Given the description of an element on the screen output the (x, y) to click on. 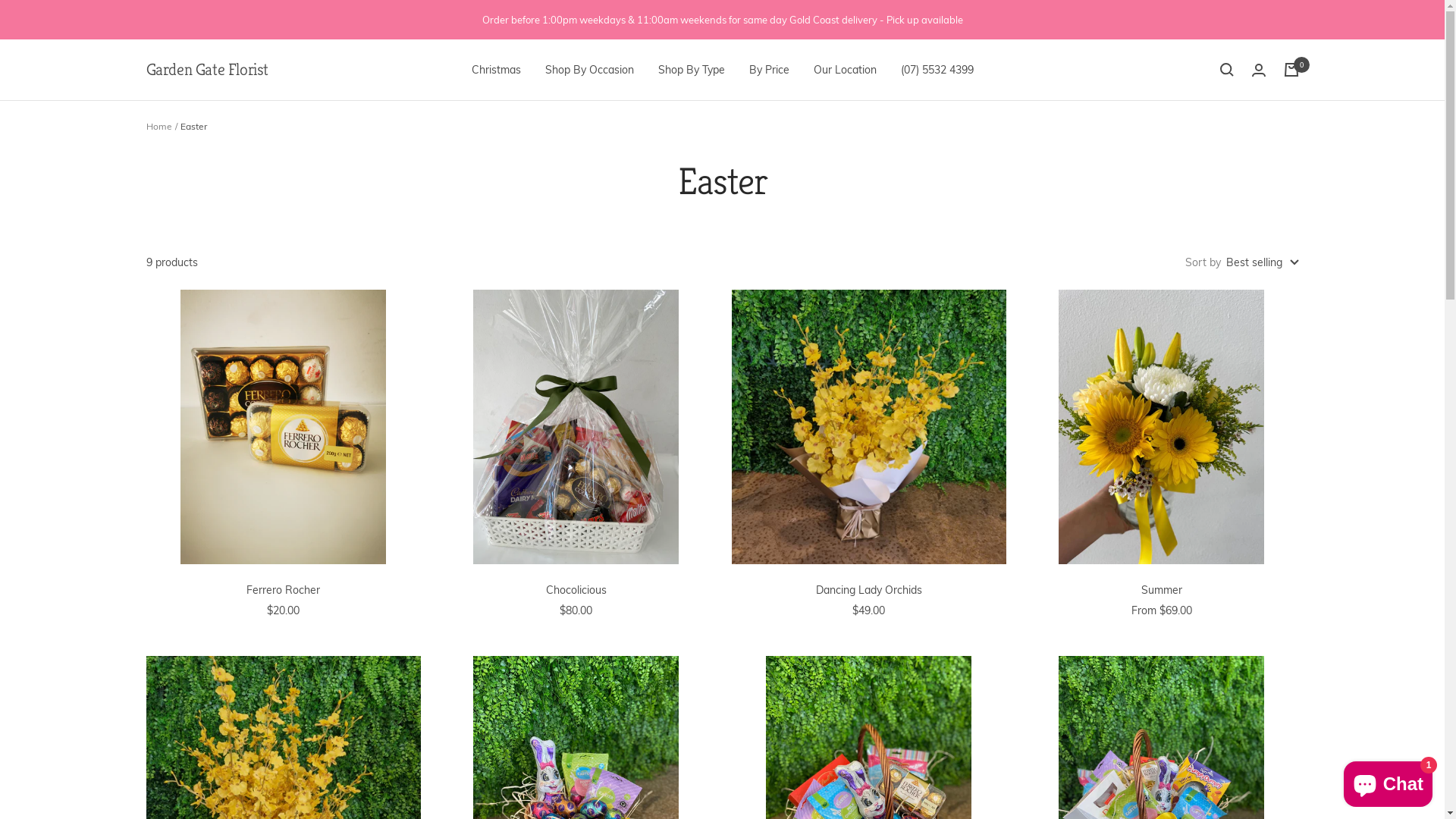
(07) 5532 4399 Element type: text (936, 69)
Chocolicious Element type: text (575, 590)
Shop By Occasion Element type: text (588, 69)
Our Location Element type: text (843, 69)
Dancing Lady Orchids Element type: text (868, 590)
Home Element type: text (158, 125)
Best selling Element type: text (1261, 262)
0 Element type: text (1290, 69)
By Price Element type: text (769, 69)
Christmas Element type: text (495, 69)
Shopify online store chat Element type: hover (1388, 780)
Garden Gate Florist Element type: text (206, 69)
Ferrero Rocher Element type: text (282, 590)
Summer Element type: text (1160, 590)
Shop By Type Element type: text (691, 69)
